Given the description of an element on the screen output the (x, y) to click on. 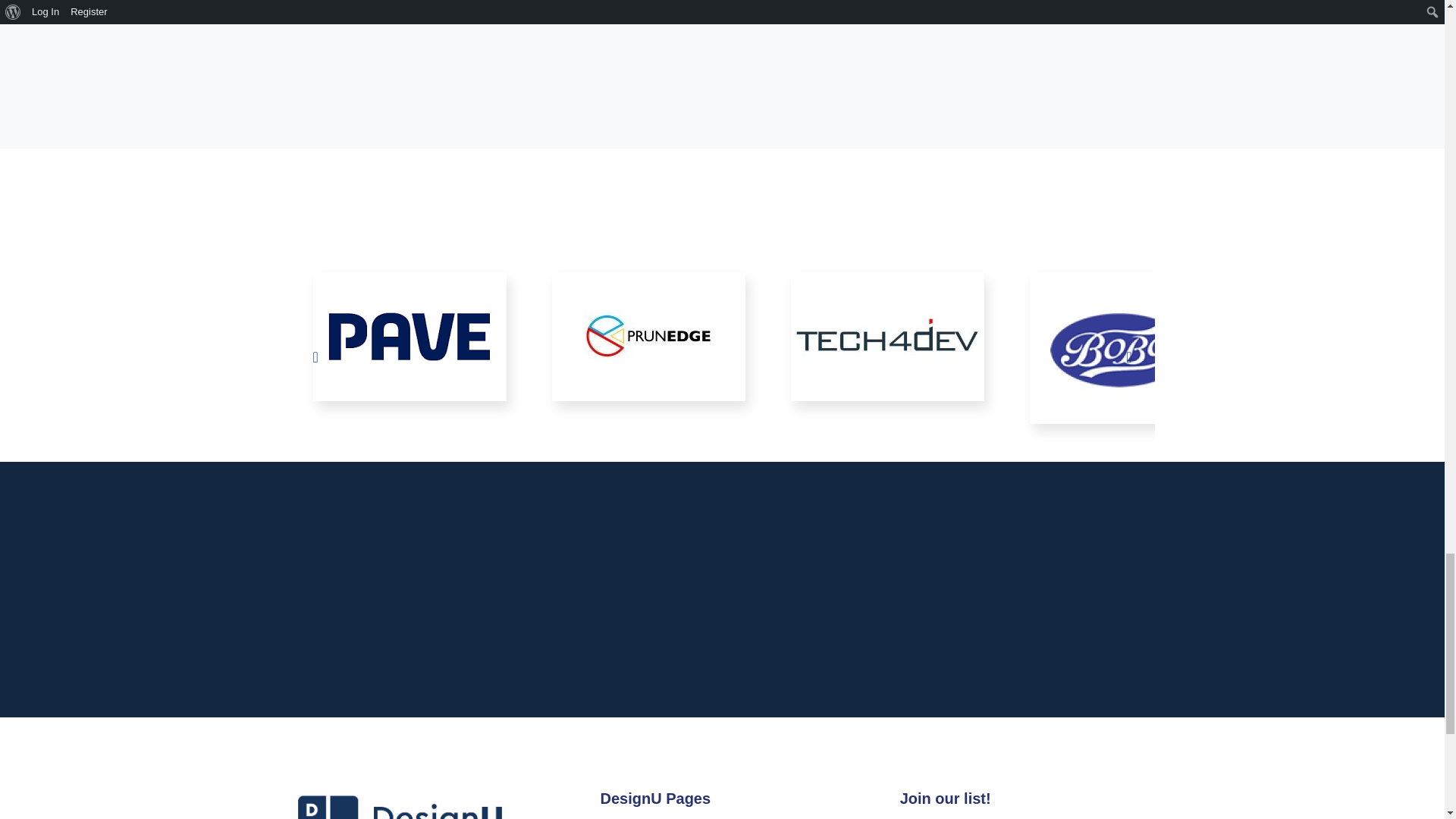
Home 3 (647, 336)
Home 4 (887, 336)
Home 2 (408, 336)
Home 5 (1125, 347)
Tech4Dev (887, 336)
Pave (409, 336)
Bobo Foods (1126, 347)
Prunedge (648, 336)
